Given the description of an element on the screen output the (x, y) to click on. 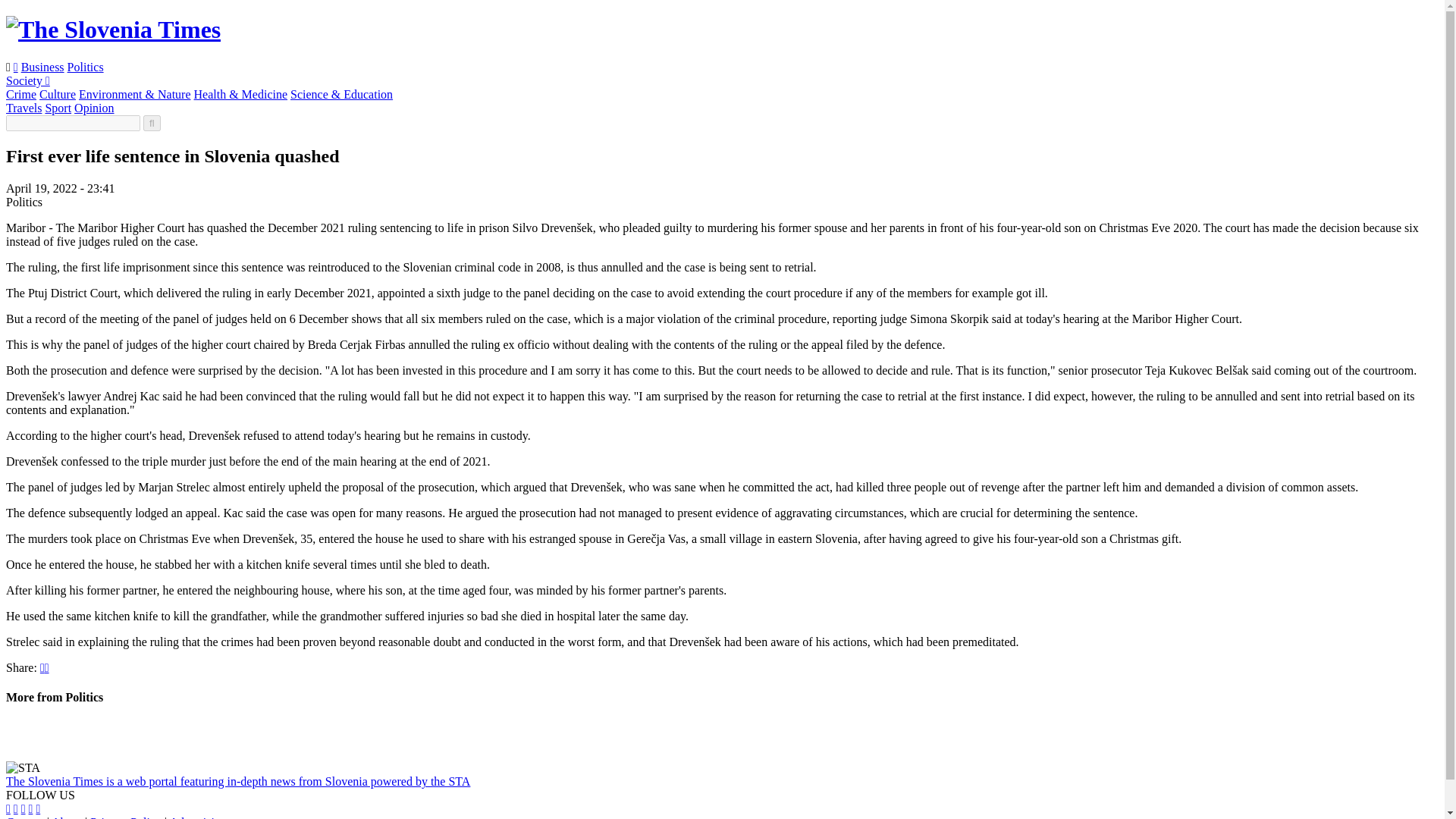
Crime (20, 93)
Travels (23, 107)
Business (42, 66)
Politics (84, 66)
Sport (58, 107)
Opinion (93, 107)
Culture (57, 93)
